Given the description of an element on the screen output the (x, y) to click on. 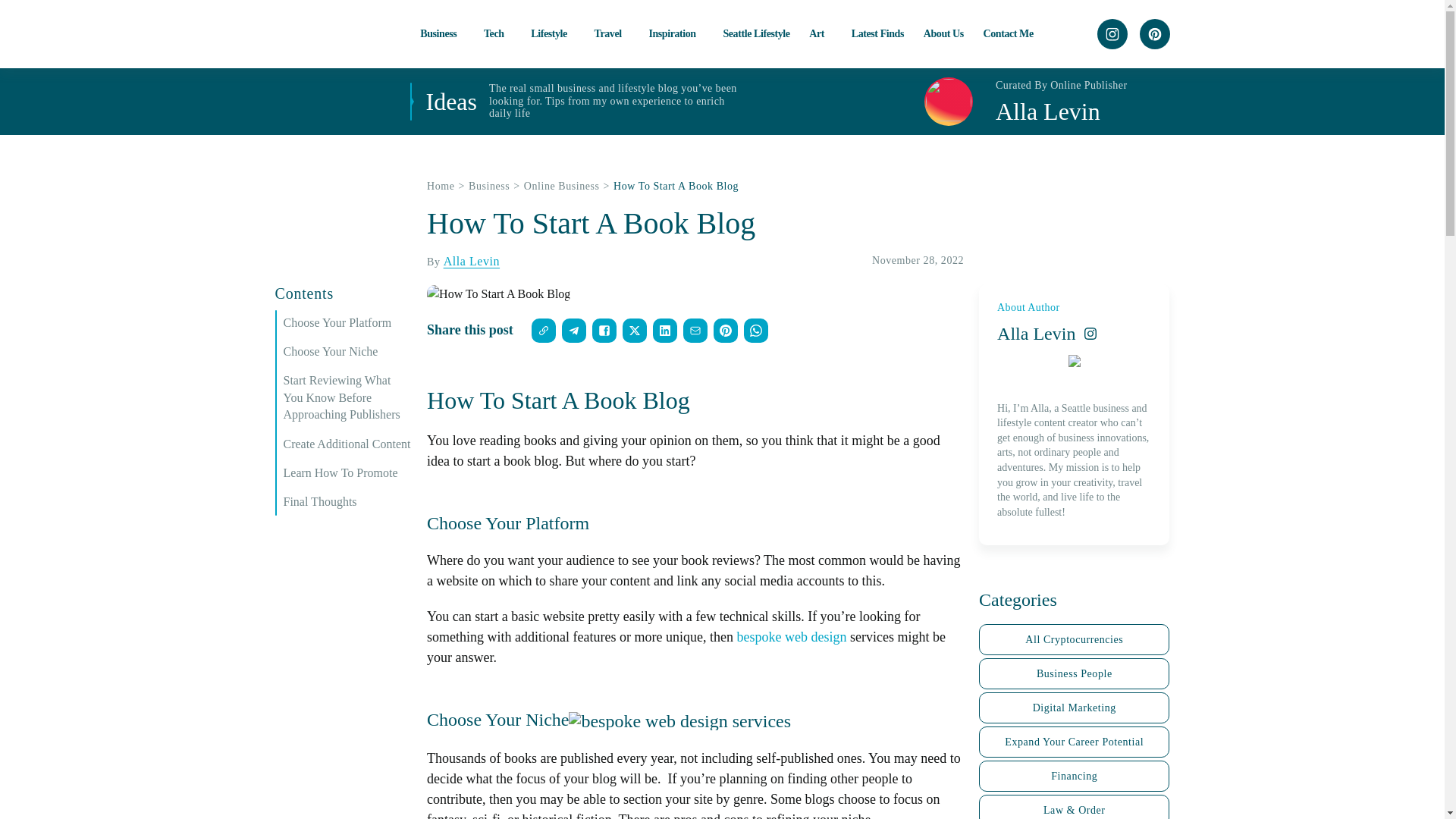
Choose Your Niche (347, 351)
Choose Your Platform (347, 322)
Inspiration (675, 33)
Lifestyle (553, 33)
Learn How To Promote (347, 473)
Travel (611, 33)
Final Thoughts (347, 501)
Tech (497, 33)
Create Additional Content (347, 443)
Business (442, 33)
